Given the description of an element on the screen output the (x, y) to click on. 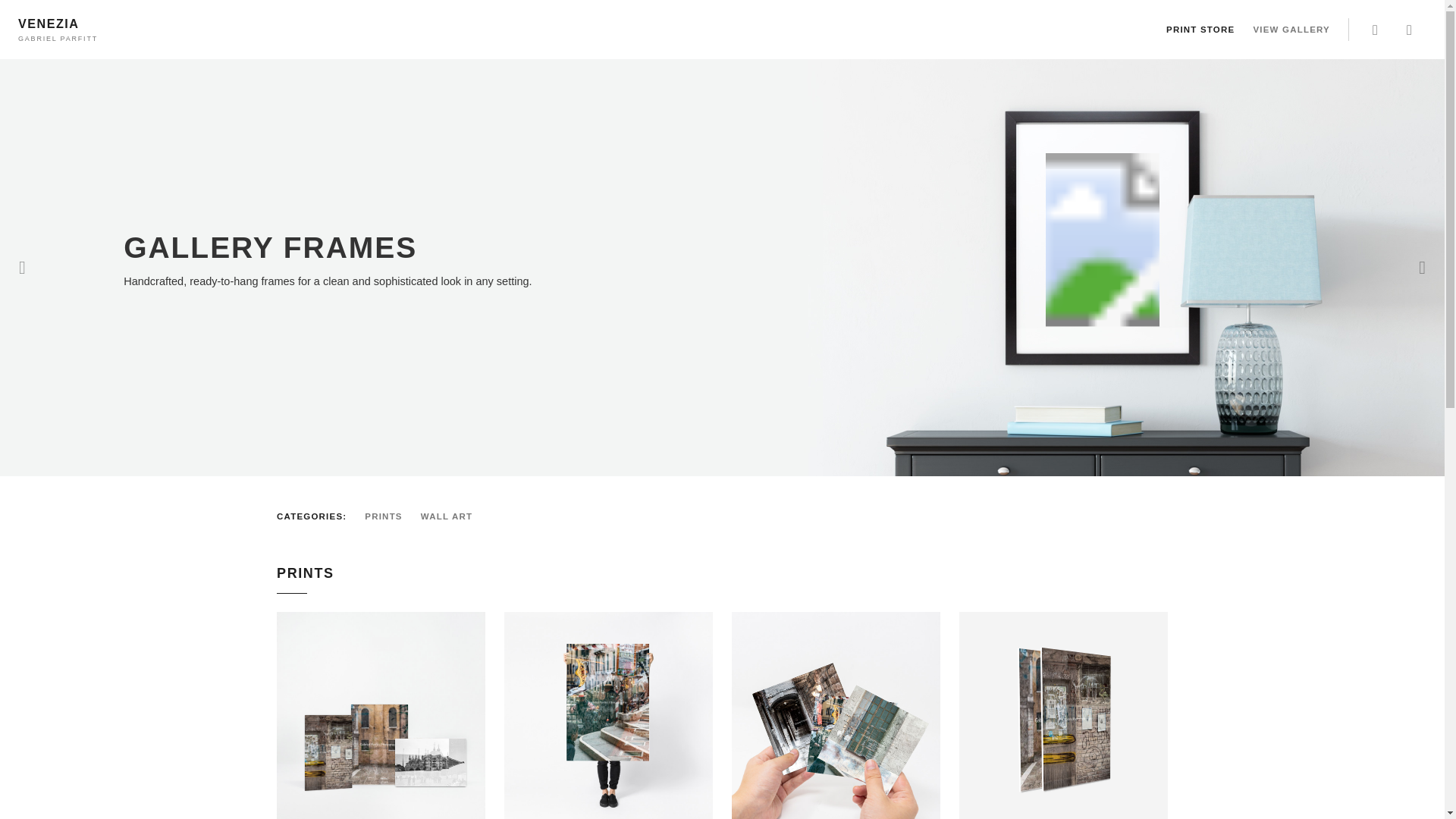
GABRIEL PARFITT (58, 39)
WALL ART (453, 516)
PRINTS (390, 516)
VENEZIA (47, 23)
PRINTS (390, 516)
VIEW GALLERY (1291, 30)
PRINT STORE (1200, 29)
WALL ART (453, 516)
